Given the description of an element on the screen output the (x, y) to click on. 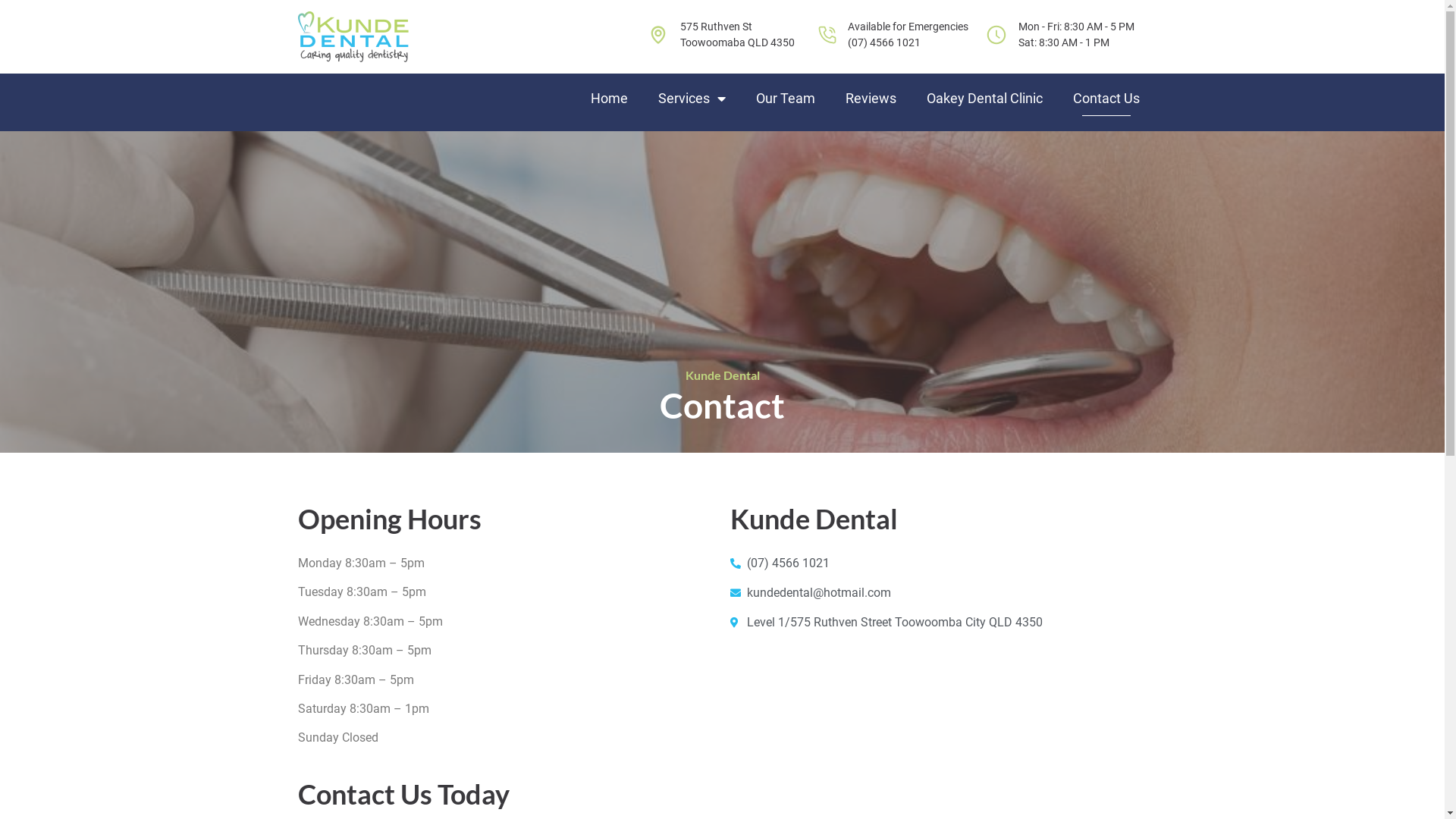
Home Element type: text (608, 98)
Contact Us Element type: text (1105, 98)
(07) 4566 1021 Element type: text (883, 42)
Reviews Element type: text (869, 98)
Oakey Dental Clinic Element type: text (984, 98)
Services Element type: text (691, 98)
Our Team Element type: text (784, 98)
